Given the description of an element on the screen output the (x, y) to click on. 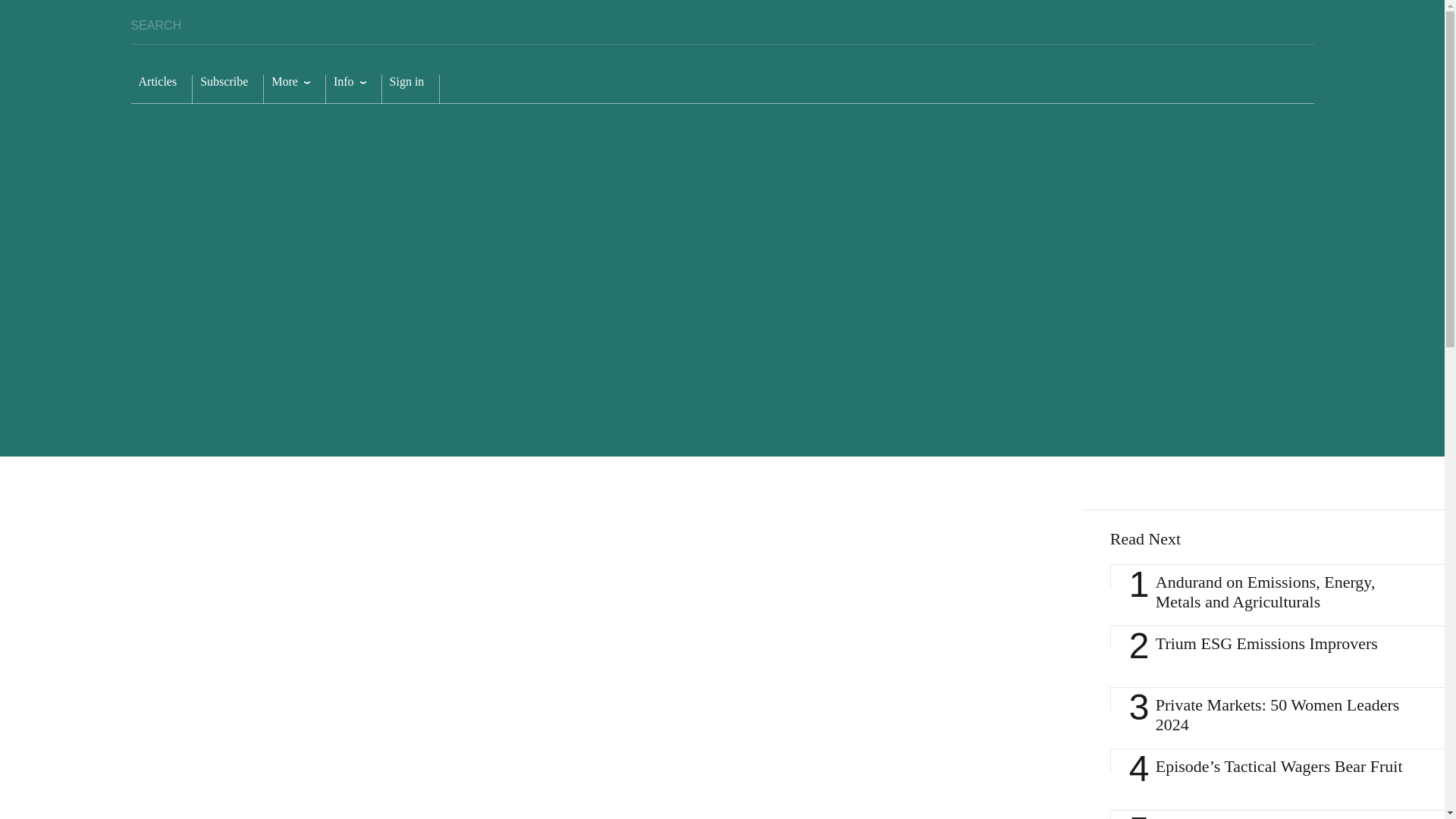
Articles (161, 89)
More (293, 89)
Sign in (410, 89)
Info (353, 89)
Sign in (410, 89)
Subscribe (227, 89)
The Hedge Fund Journal (1184, 76)
